Given the description of an element on the screen output the (x, y) to click on. 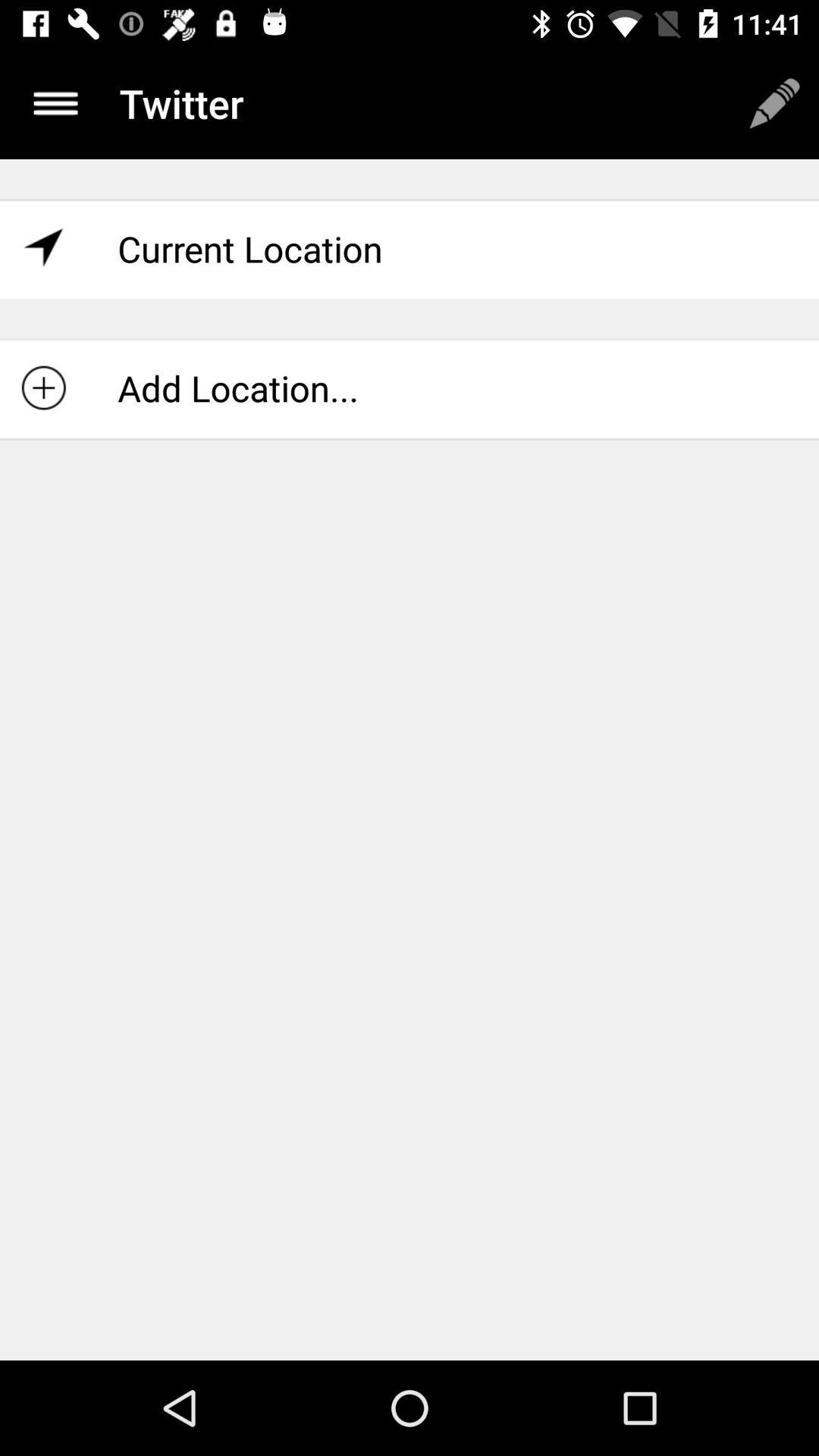
new tweet (774, 103)
